Given the description of an element on the screen output the (x, y) to click on. 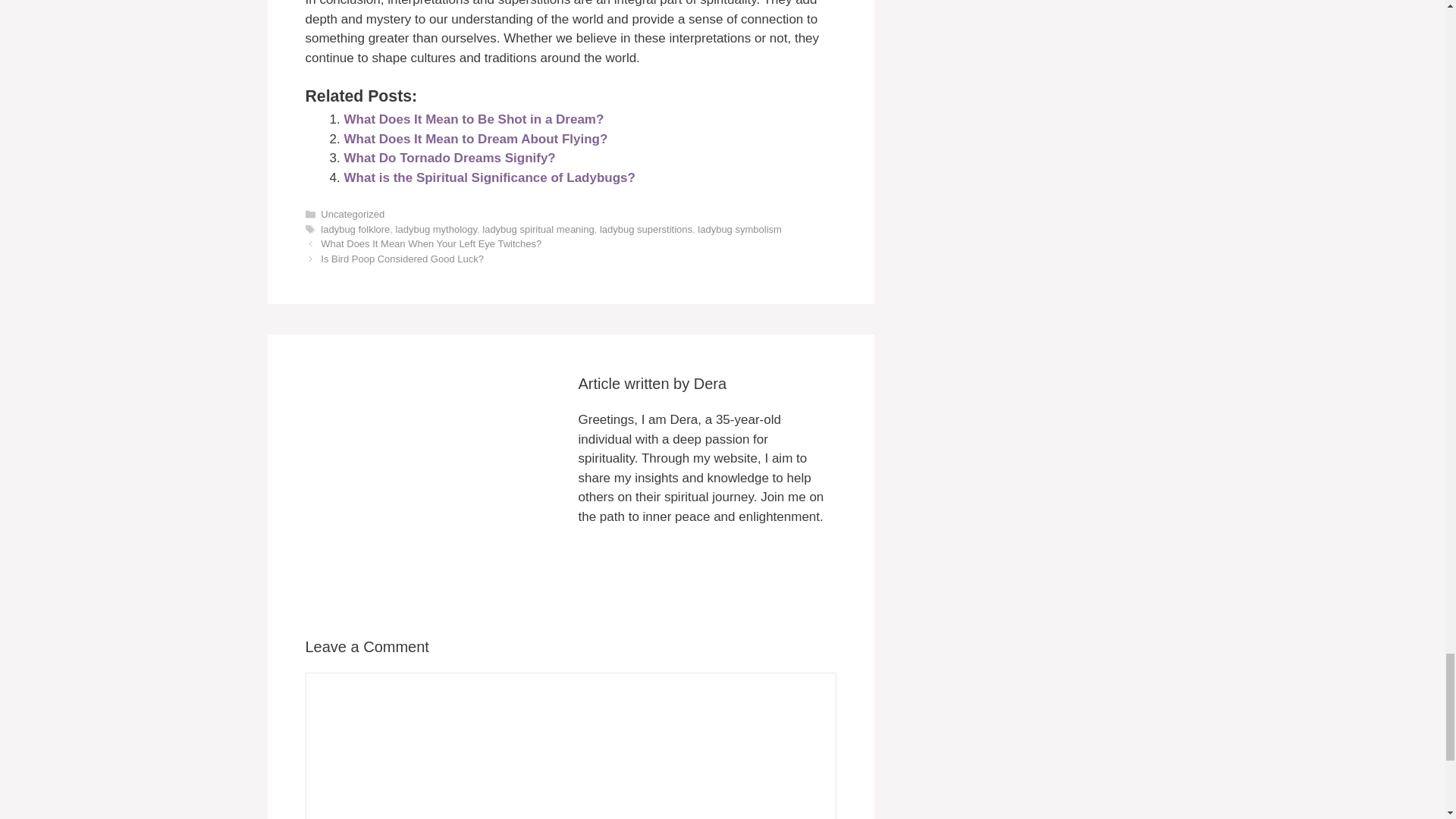
What Does It Mean When Your Left Eye Twitches? (430, 243)
What Do Tornado Dreams Signify? (449, 157)
Uncategorized (352, 214)
What is the Spiritual Significance of Ladybugs? (488, 177)
What Does It Mean to Dream About Flying? (475, 138)
What Does It Mean to Be Shot in a Dream? (473, 119)
ladybug superstitions (646, 229)
ladybug mythology (436, 229)
ladybug symbolism (739, 229)
Is Bird Poop Considered Good Luck? (401, 258)
